Given the description of an element on the screen output the (x, y) to click on. 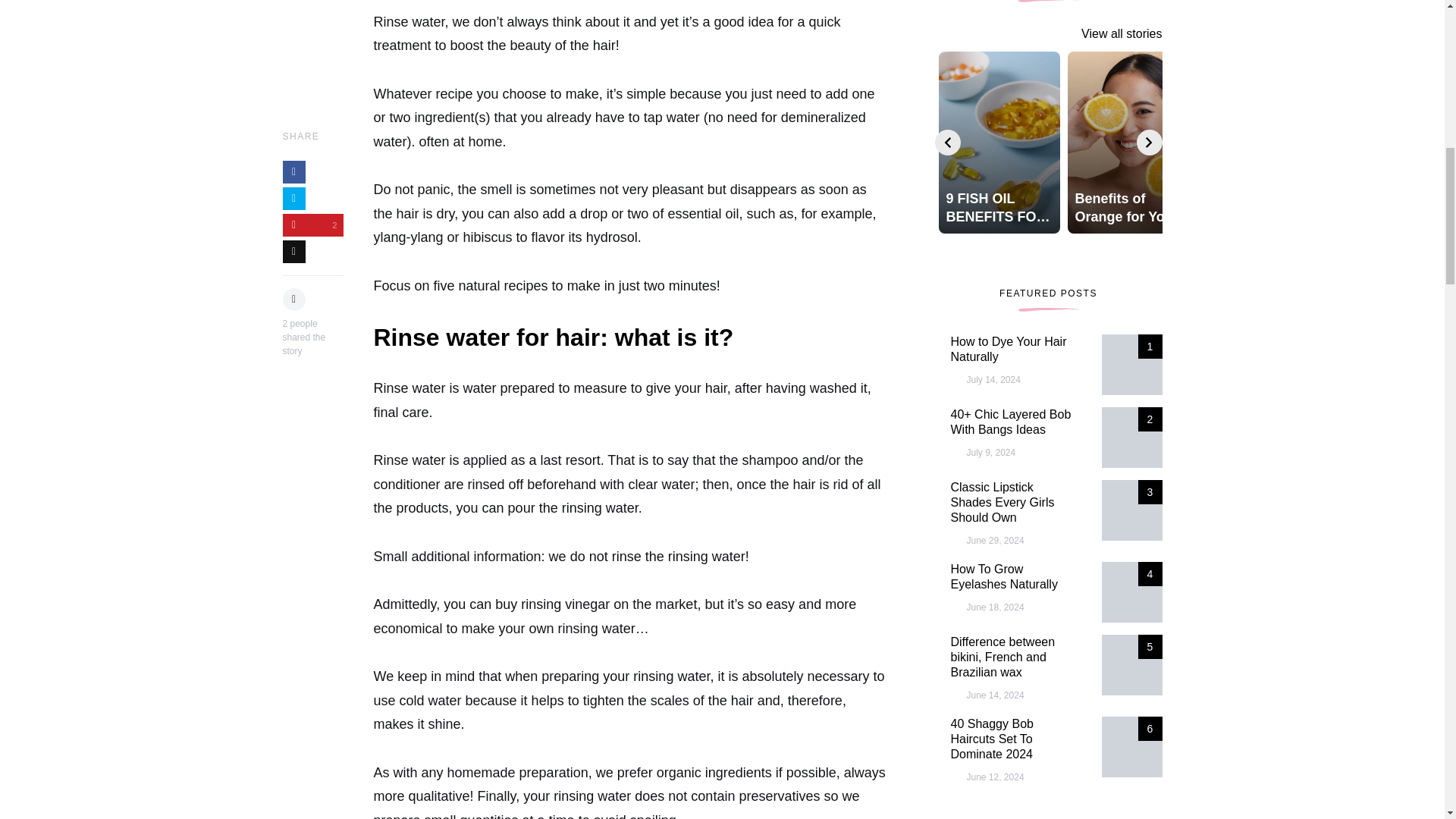
2 (312, 104)
